Given the description of an element on the screen output the (x, y) to click on. 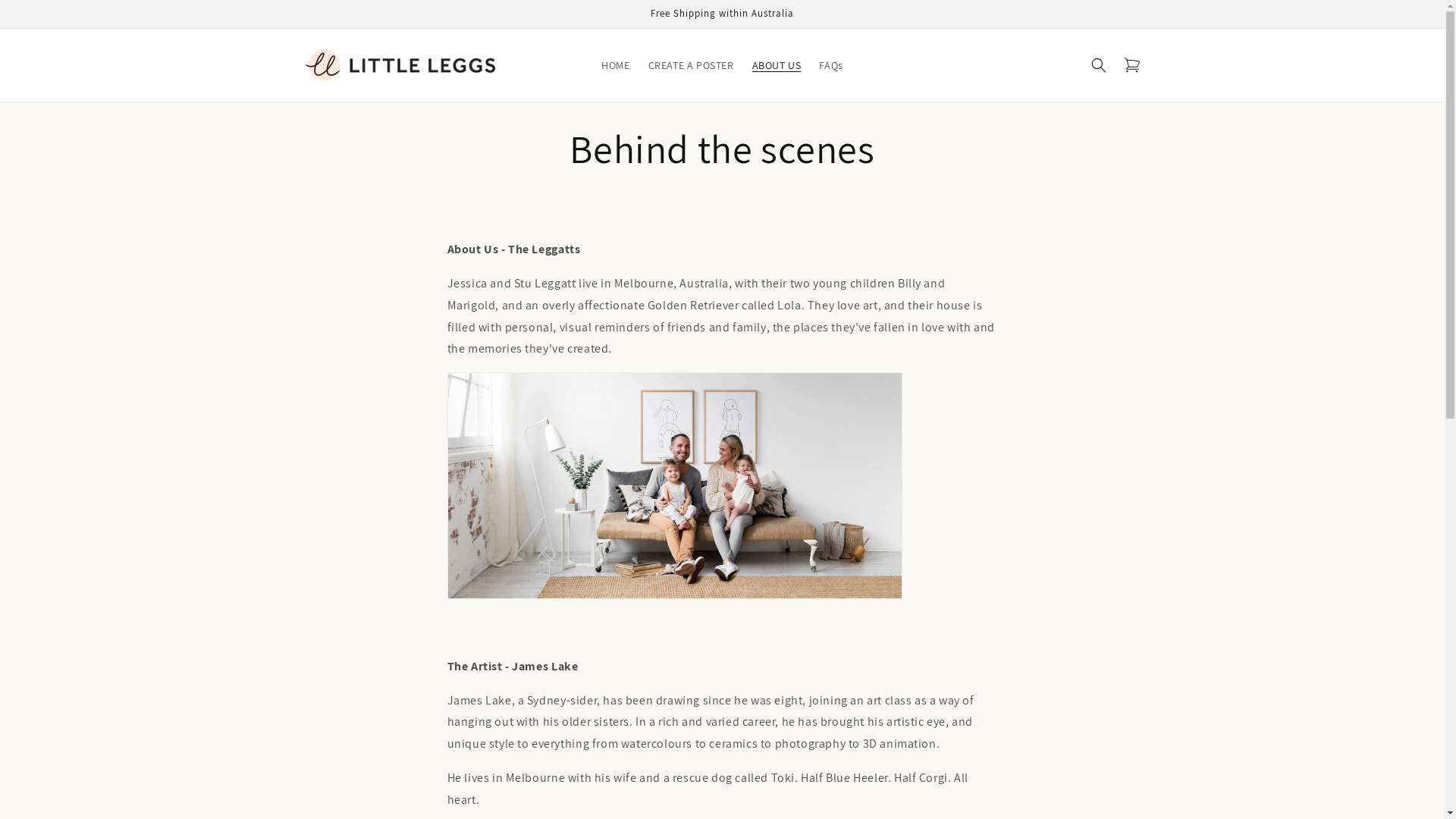
CREATE A POSTER Element type: text (691, 65)
ABOUT US Element type: text (776, 65)
Cart Element type: text (1131, 64)
FAQs Element type: text (830, 65)
HOME Element type: text (615, 65)
